Given the description of an element on the screen output the (x, y) to click on. 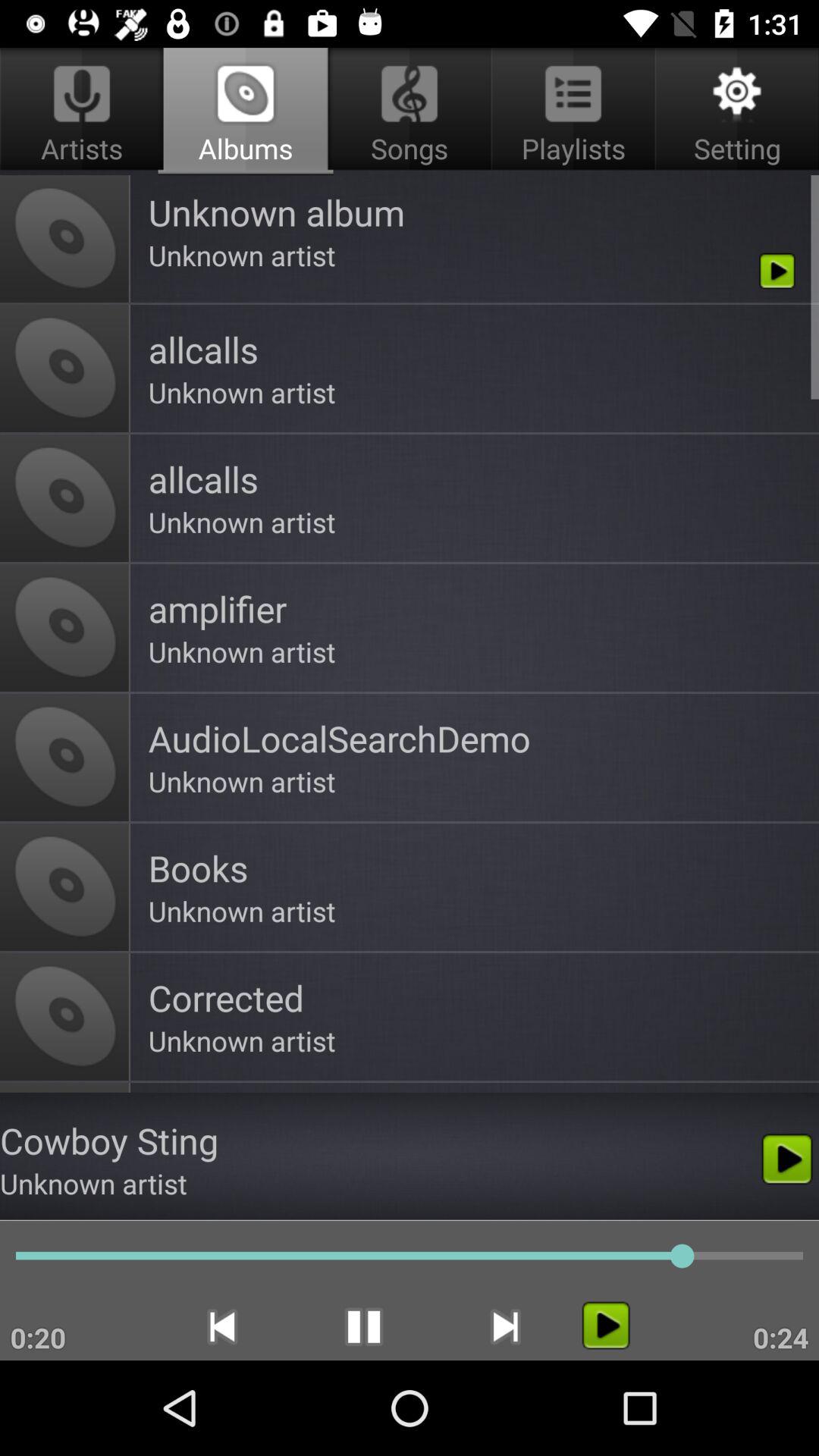
flip until the albums (245, 111)
